Given the description of an element on the screen output the (x, y) to click on. 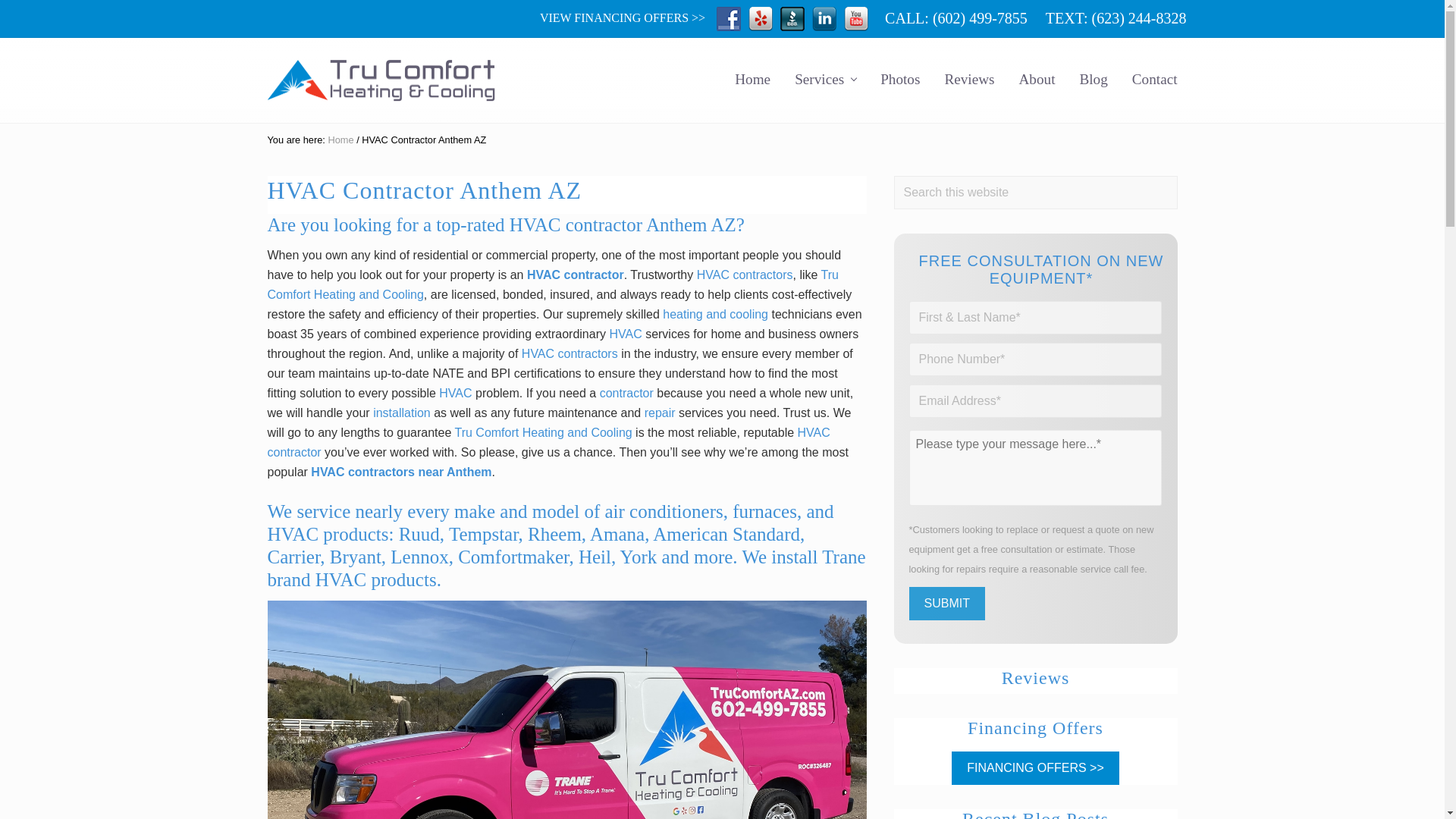
Photos (899, 78)
Blog (1093, 78)
Reviews (968, 78)
Contact (1154, 78)
Home (751, 78)
About (1037, 78)
HVAC Contractor Anthem AZ (566, 709)
Submit (946, 603)
Services (825, 78)
